Given the description of an element on the screen output the (x, y) to click on. 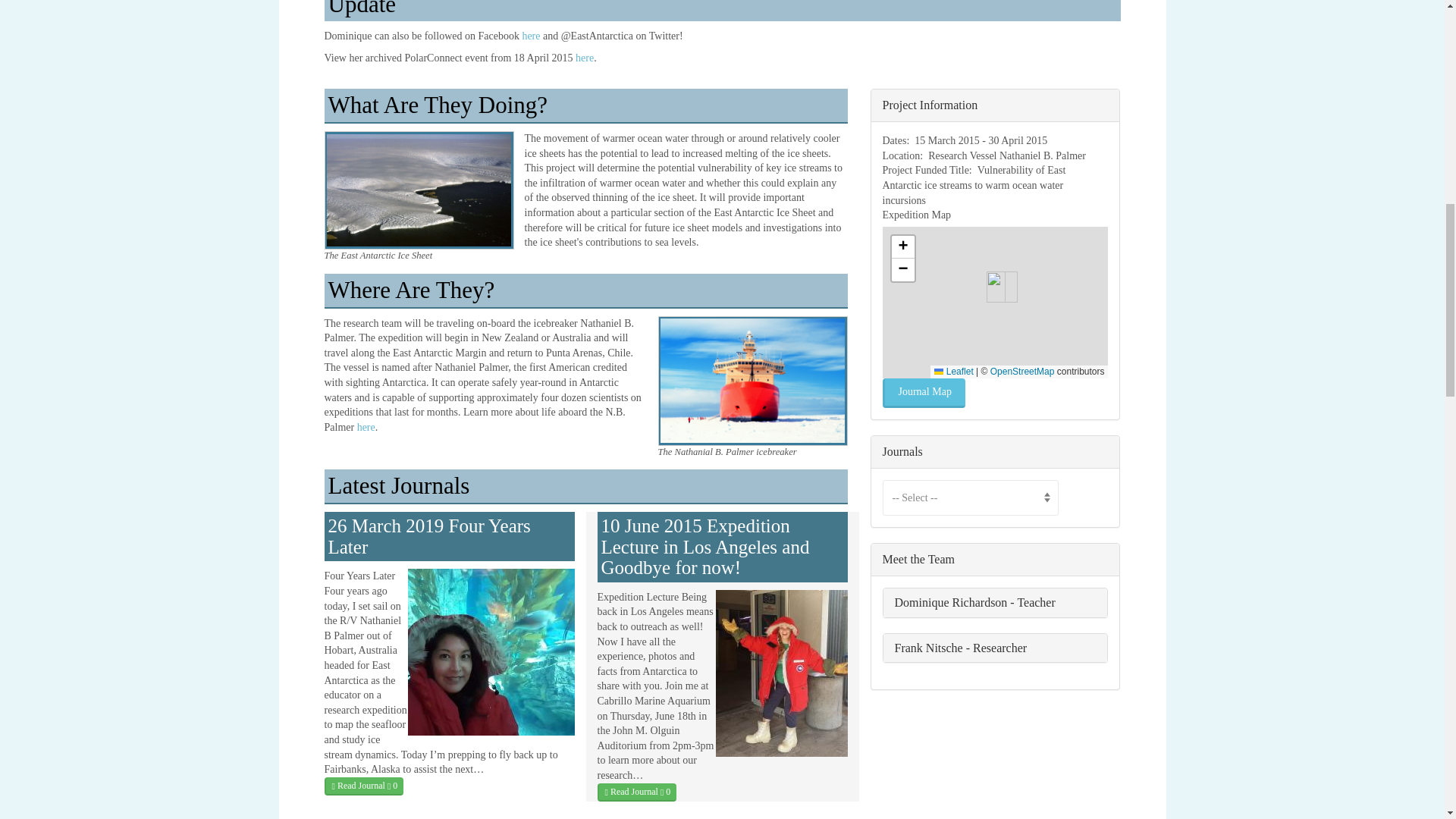
A JavaScript library for interactive maps (953, 371)
The East Antarctic Ice Sheet  (418, 190)
Read Journal (636, 791)
Read Journal (364, 786)
Zoom in (902, 246)
-- Select -- (970, 497)
The Nathanial B. Palmer icebreaker (752, 380)
Zoom out (902, 269)
